Given the description of an element on the screen output the (x, y) to click on. 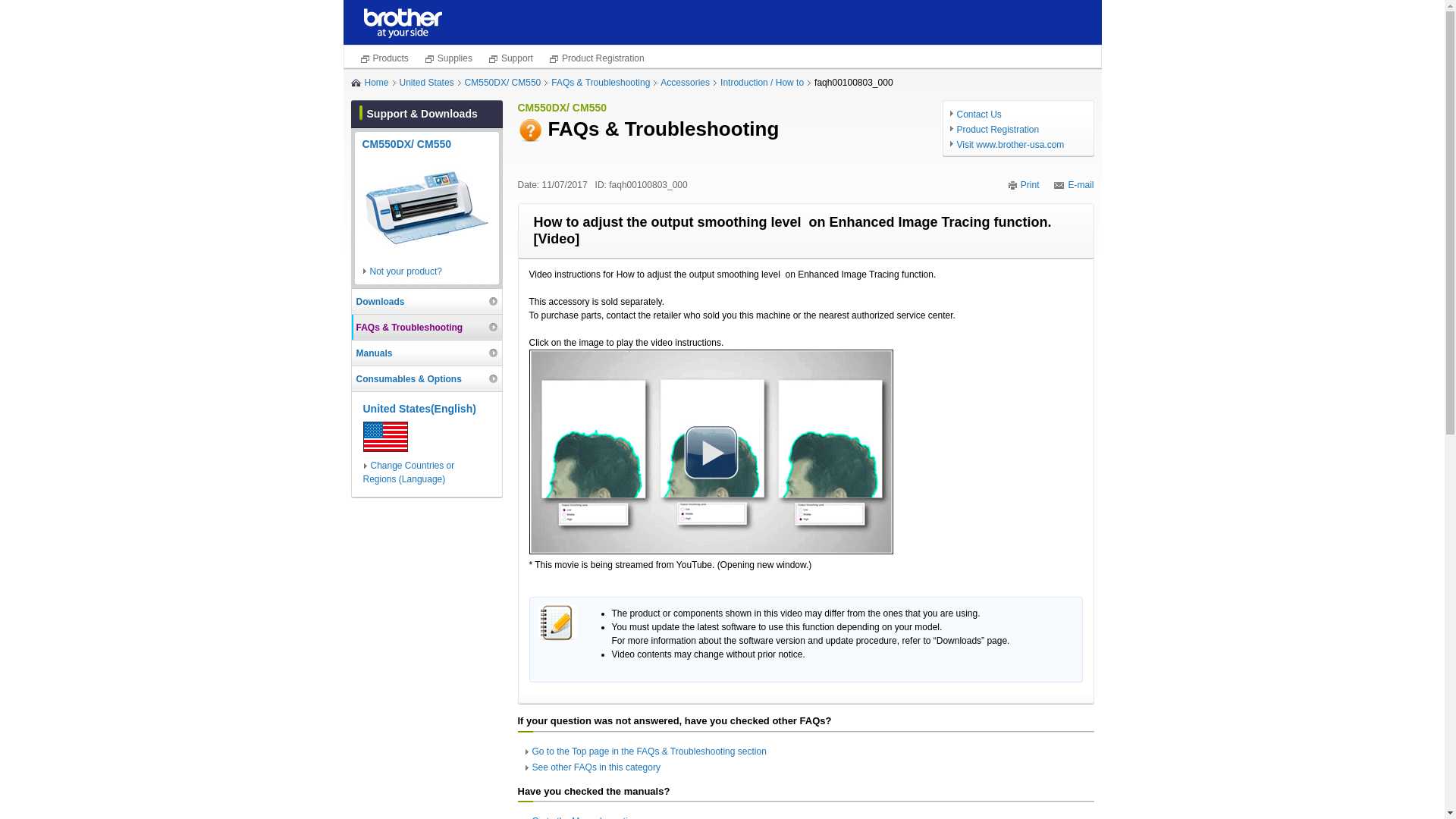
How to adjust the output smoothing level on EIT function. (711, 451)
Product Registration (596, 58)
United States (429, 82)
Products (384, 58)
Downloads (426, 301)
Manuals (426, 352)
Supplies (447, 58)
Not your product? (427, 271)
E-mail (1073, 184)
See other FAQs in this category (596, 767)
Home (379, 82)
Go to the Manuals section (584, 817)
Support (509, 58)
brother at your side (404, 23)
Contact Us (1017, 114)
